Given the description of an element on the screen output the (x, y) to click on. 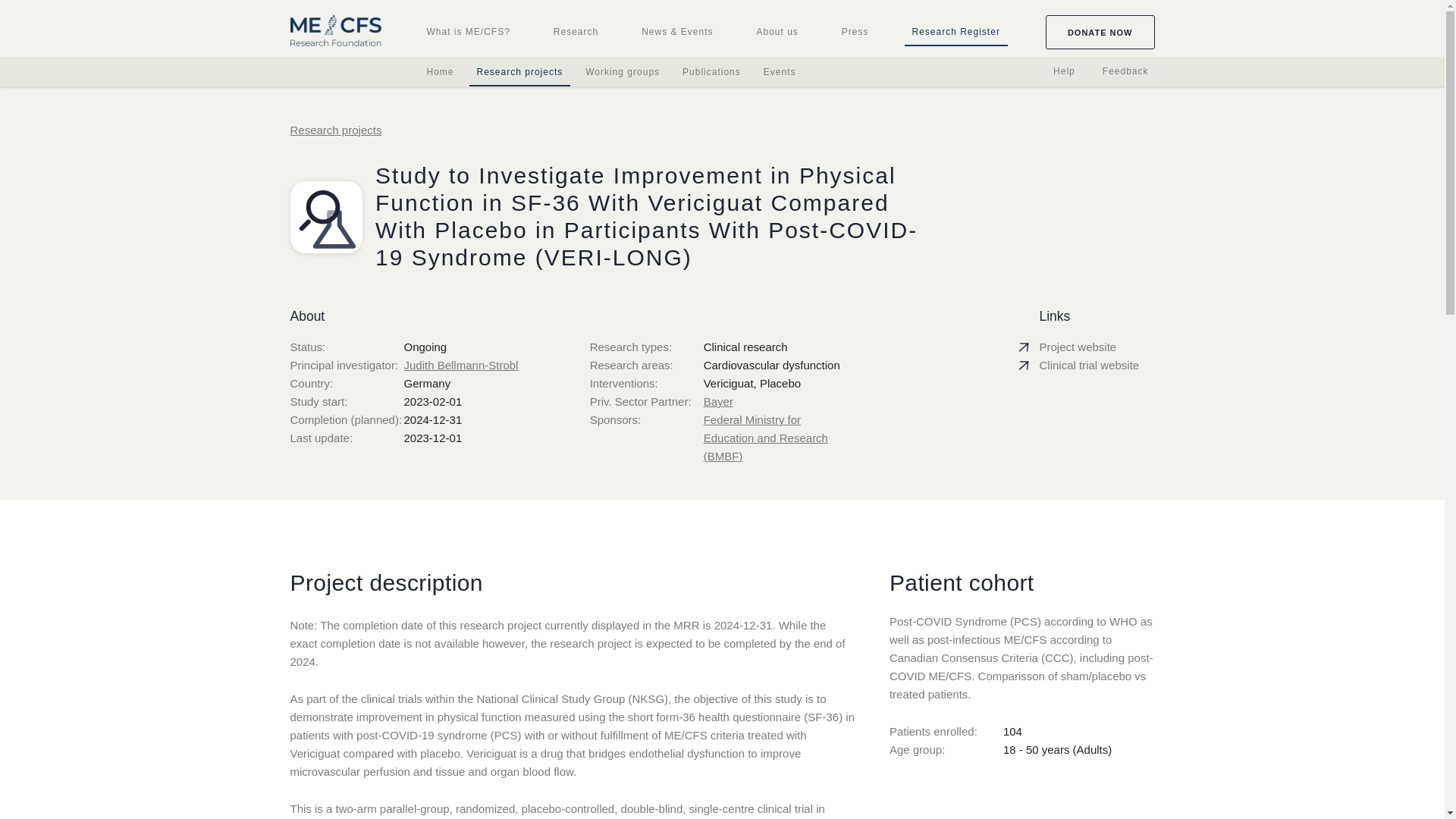
Bayer (718, 400)
Research projects (519, 72)
DONATE NOW (1080, 31)
Judith Bellmann-Strobl (460, 364)
Working groups (622, 71)
Events (779, 71)
About us (777, 31)
Feedback (1125, 71)
Help (1063, 71)
Research projects (335, 129)
Research Register (955, 31)
Research (575, 31)
Press (855, 31)
DONATE NOW (1099, 32)
Publications (711, 71)
